Given the description of an element on the screen output the (x, y) to click on. 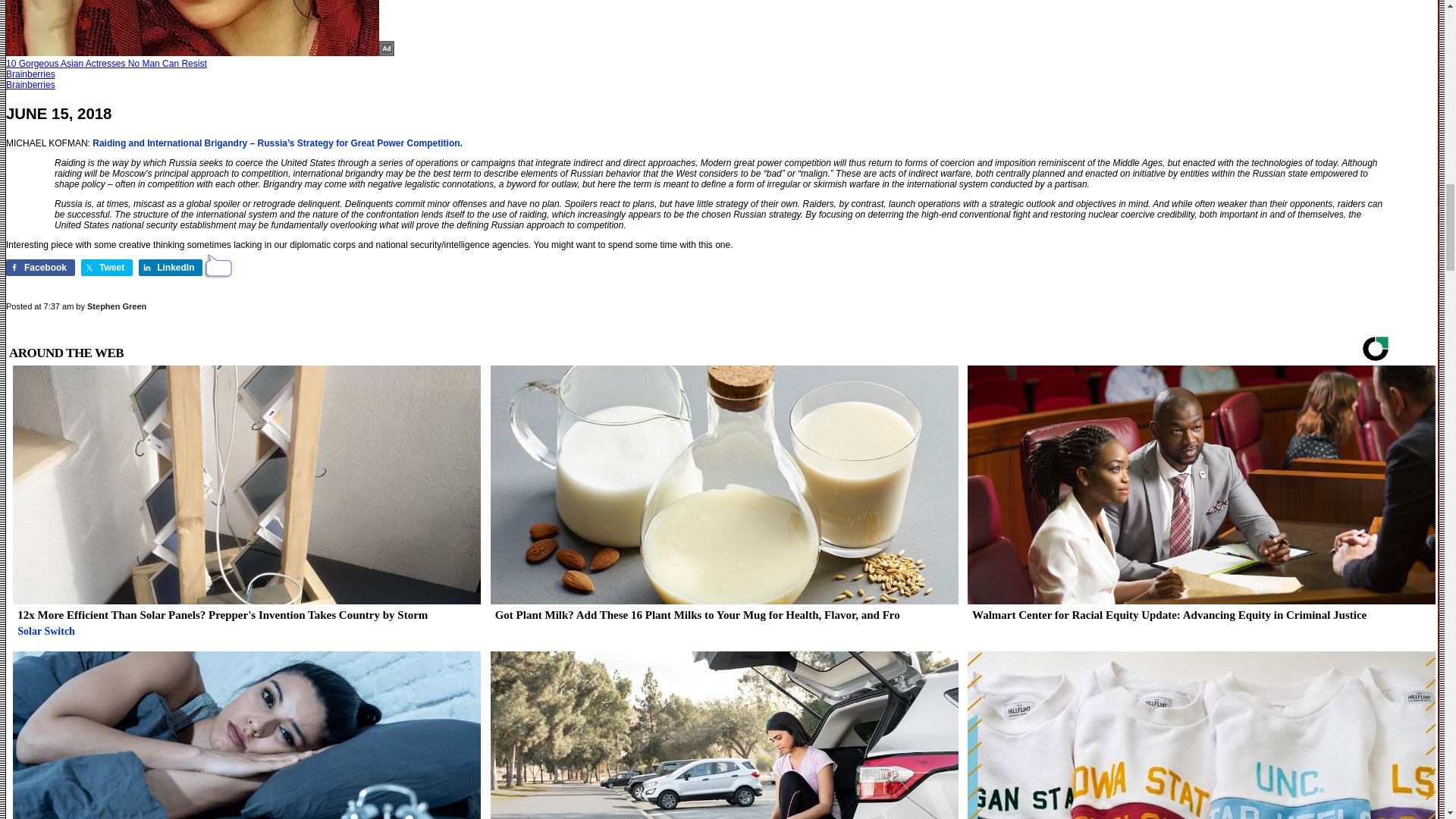
Share on LinkedIn (170, 267)
Facebook (40, 267)
Share on Facebook (40, 267)
The Close Relationship Between Stress and Sleep (244, 735)
Five Reasons Your Car Insurance Rate Changes (721, 735)
The Close Relationship Between Stress and Sleep (244, 735)
Five Reasons Your Car Insurance Rate Changes (721, 735)
Stephen Green (117, 306)
